Given the description of an element on the screen output the (x, y) to click on. 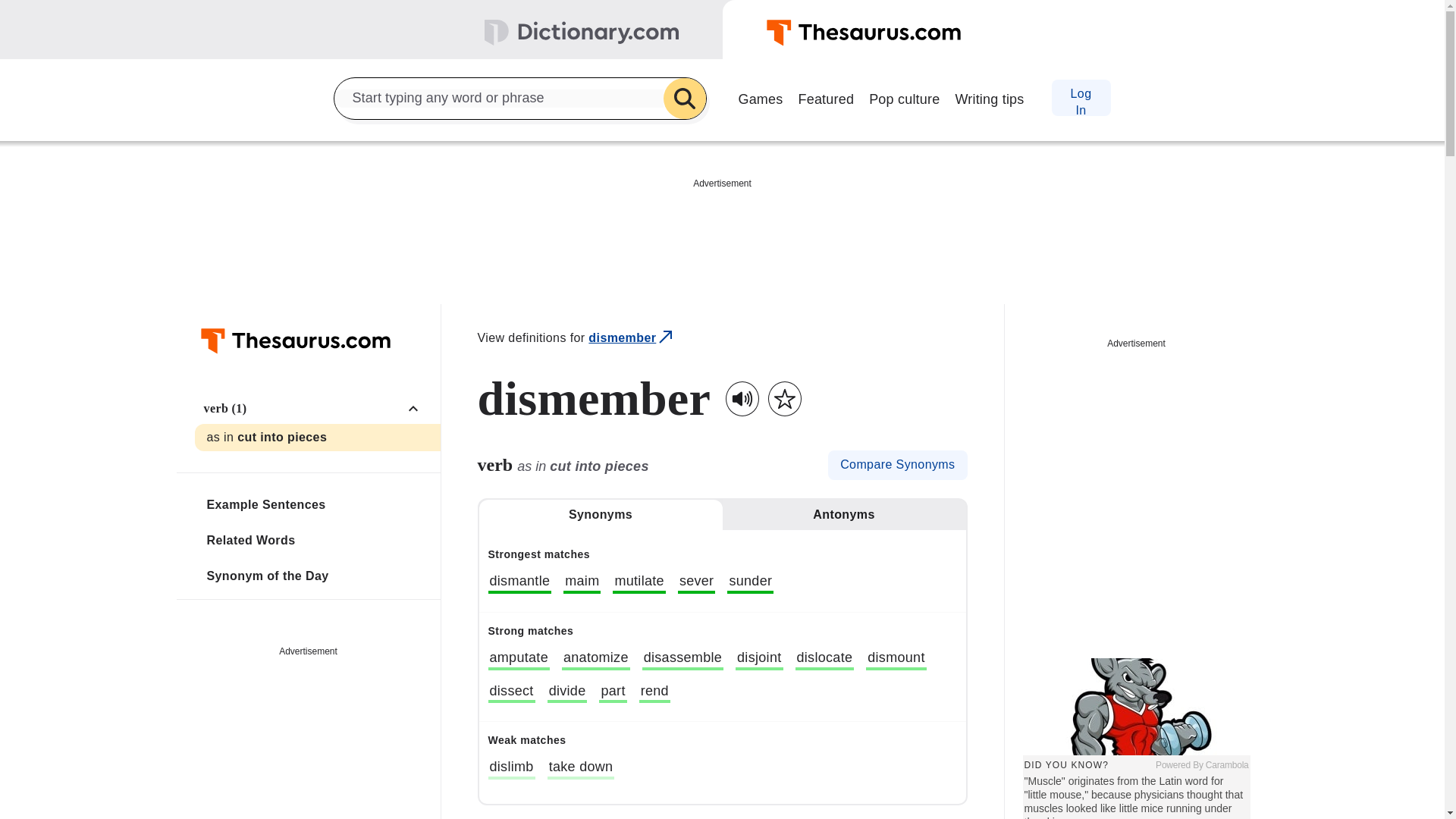
Games (760, 97)
dismember (631, 338)
Synonym of the Day (316, 575)
Pop culture (904, 97)
Writing tips (988, 97)
Related Words (316, 540)
Example Sentences (316, 504)
Log In (1080, 97)
as in cut into pieces (316, 437)
Featured (825, 97)
